Given the description of an element on the screen output the (x, y) to click on. 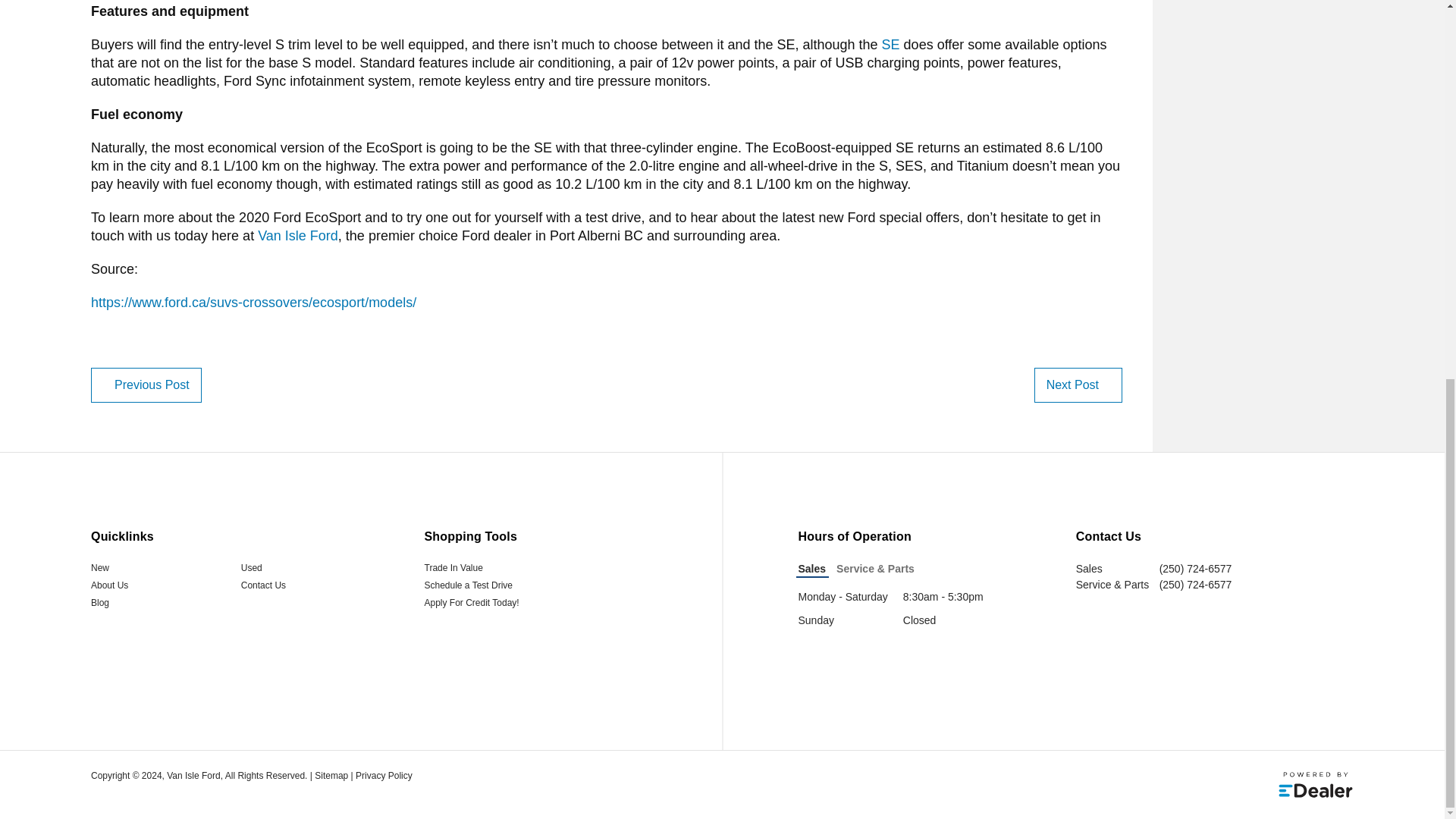
Van Isle Ford (297, 235)
Powered and Designed By Edealer (1316, 784)
SE (890, 44)
Previous Post (146, 384)
